Given the description of an element on the screen output the (x, y) to click on. 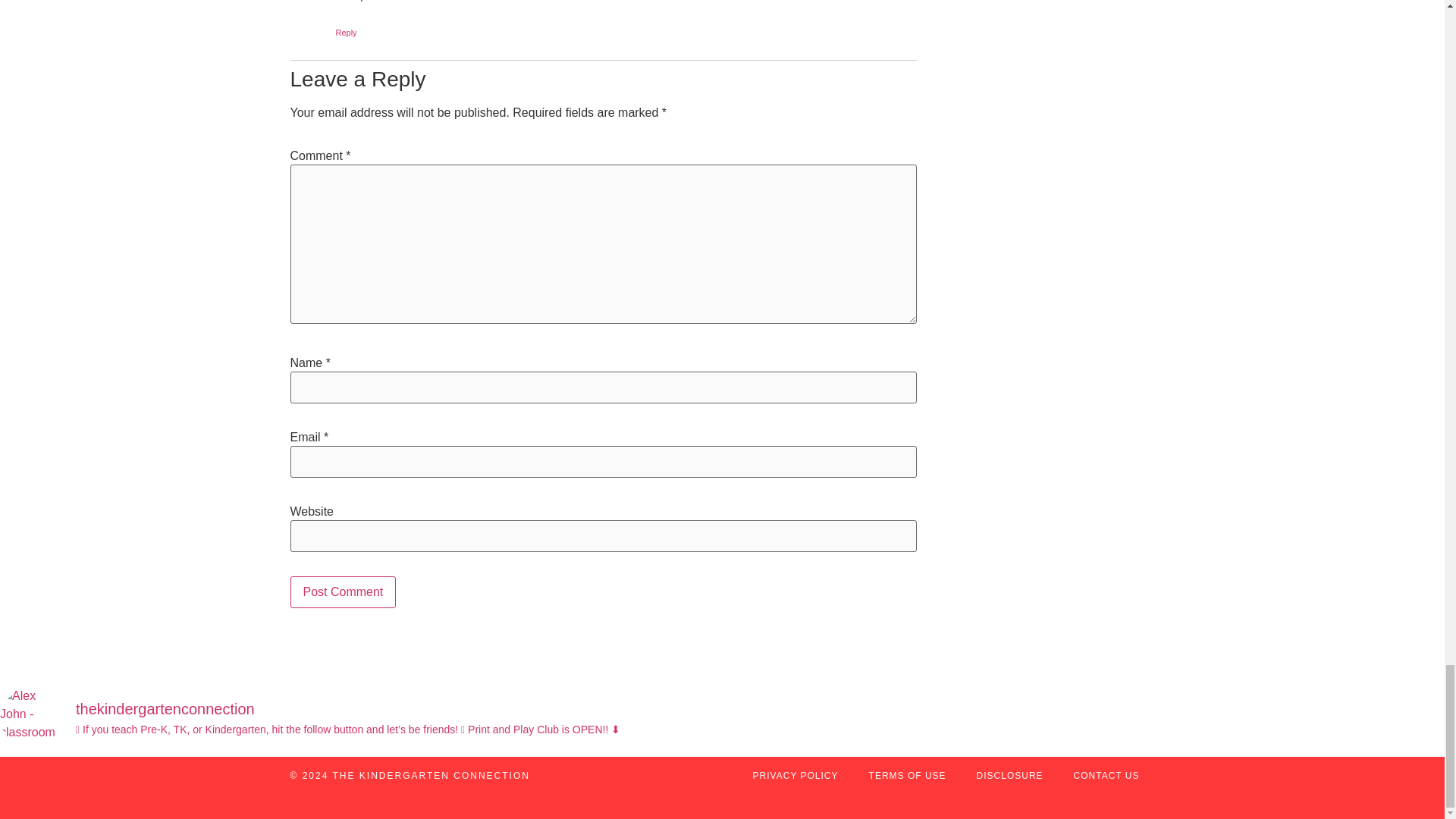
Post Comment (342, 592)
